Given the description of an element on the screen output the (x, y) to click on. 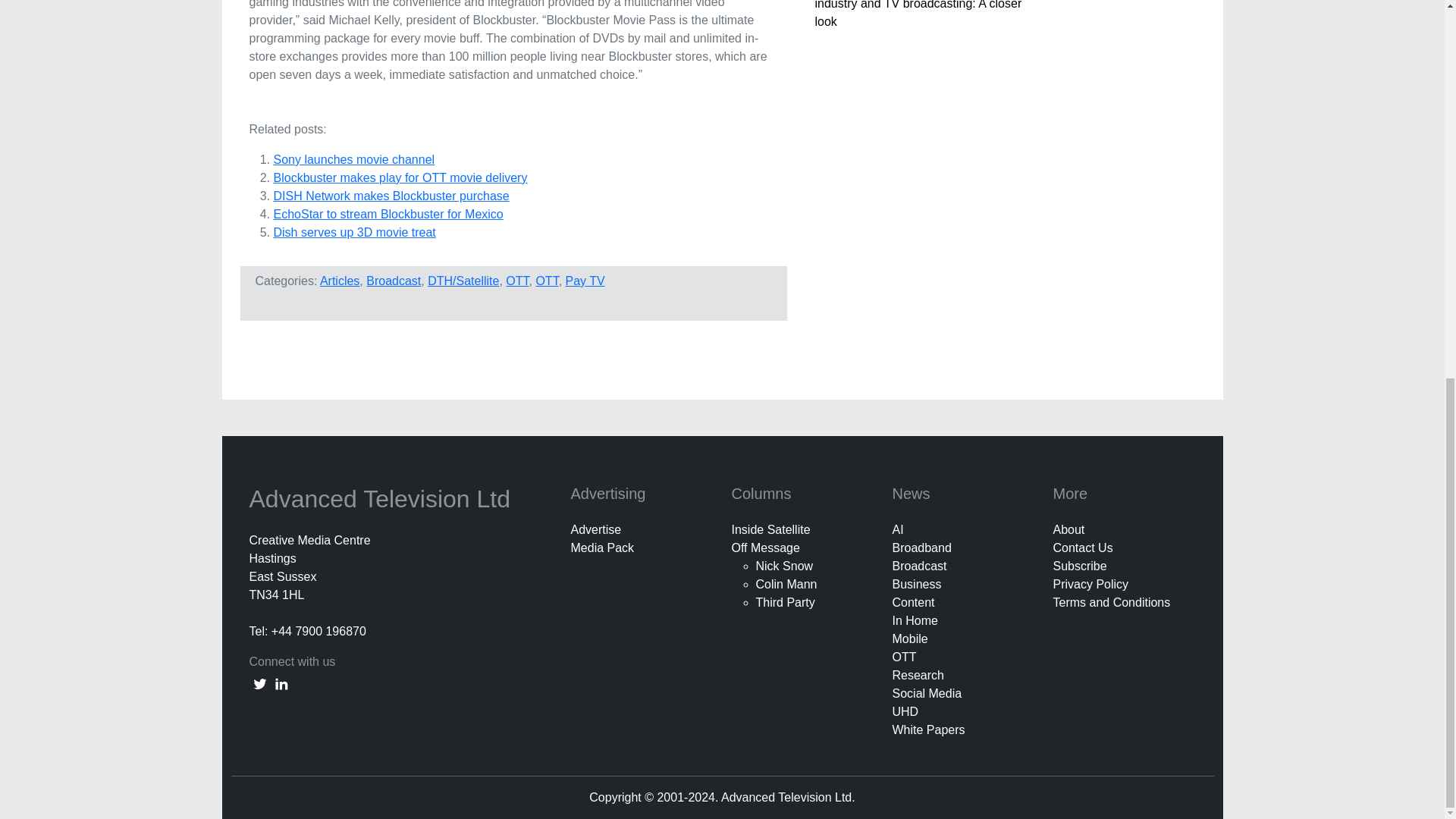
OTT (516, 280)
Dish serves up 3D movie treat (354, 232)
Pay TV (585, 280)
DISH Network makes Blockbuster purchase (390, 195)
DISH Network makes Blockbuster purchase (390, 195)
Broadcast (393, 280)
OTT (546, 280)
Blockbuster makes play for OTT movie delivery (400, 177)
Sony launches movie channel (353, 159)
EchoStar to stream Blockbuster for Mexico (387, 214)
